Given the description of an element on the screen output the (x, y) to click on. 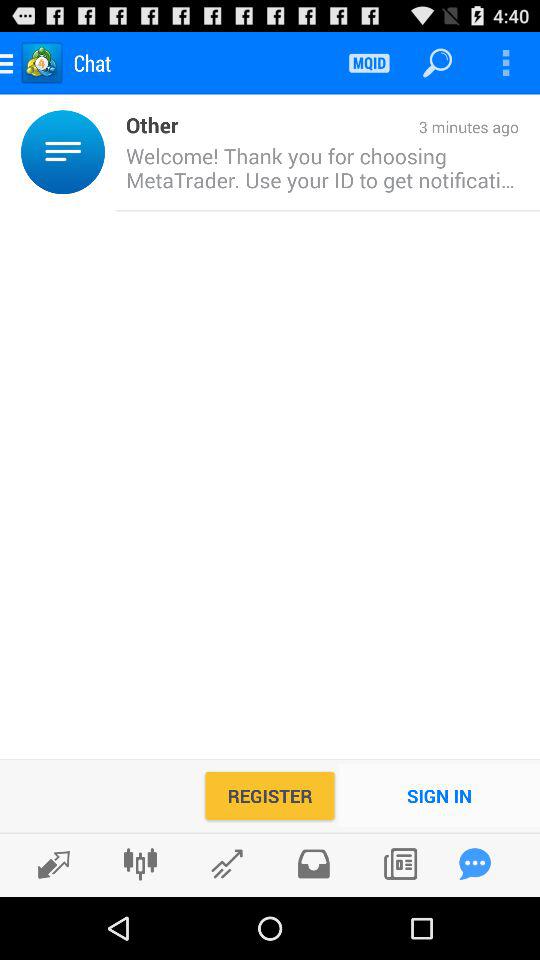
select item to the left of other item (110, 152)
